Given the description of an element on the screen output the (x, y) to click on. 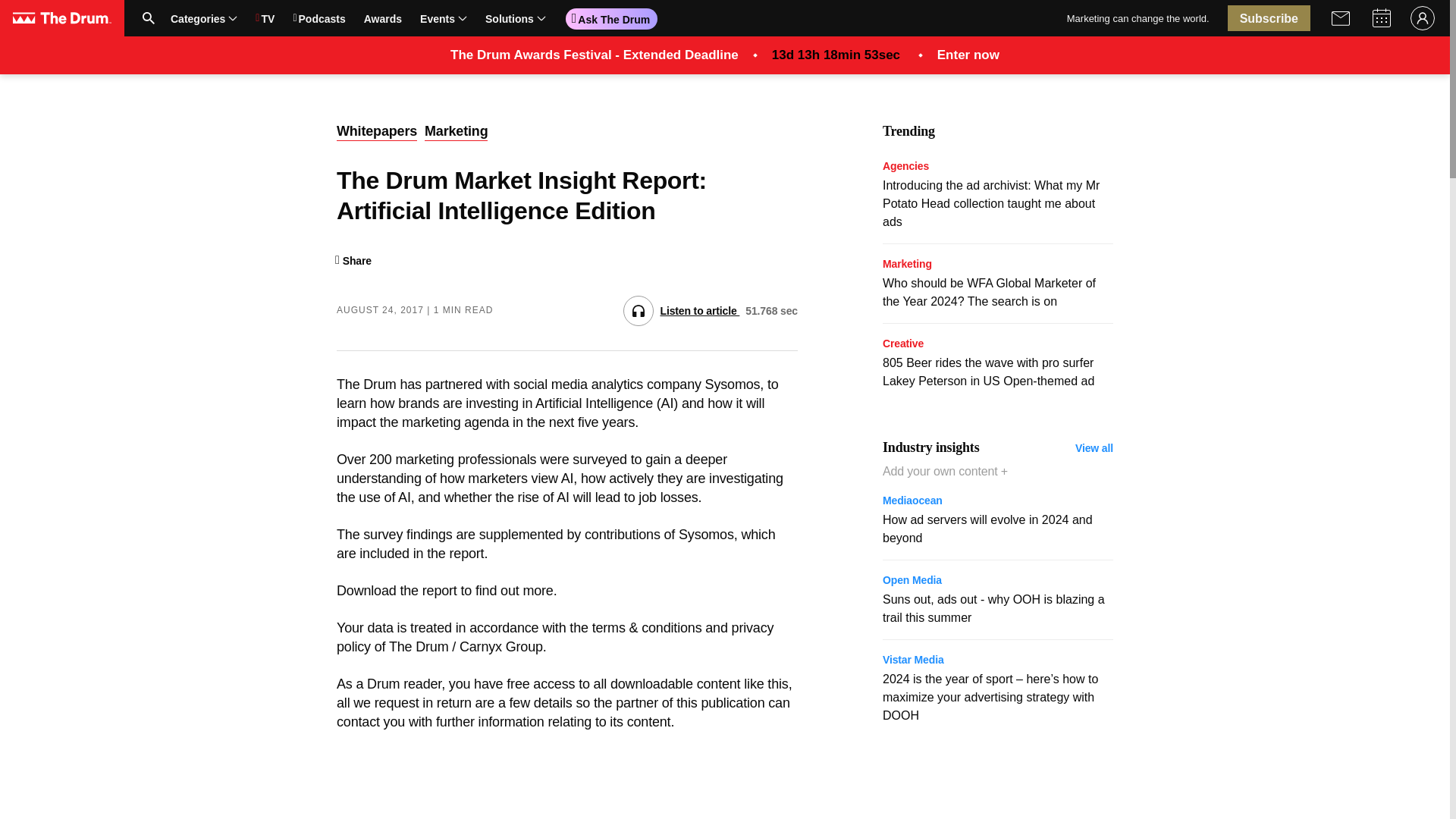
Categories (409, 17)
